Given the description of an element on the screen output the (x, y) to click on. 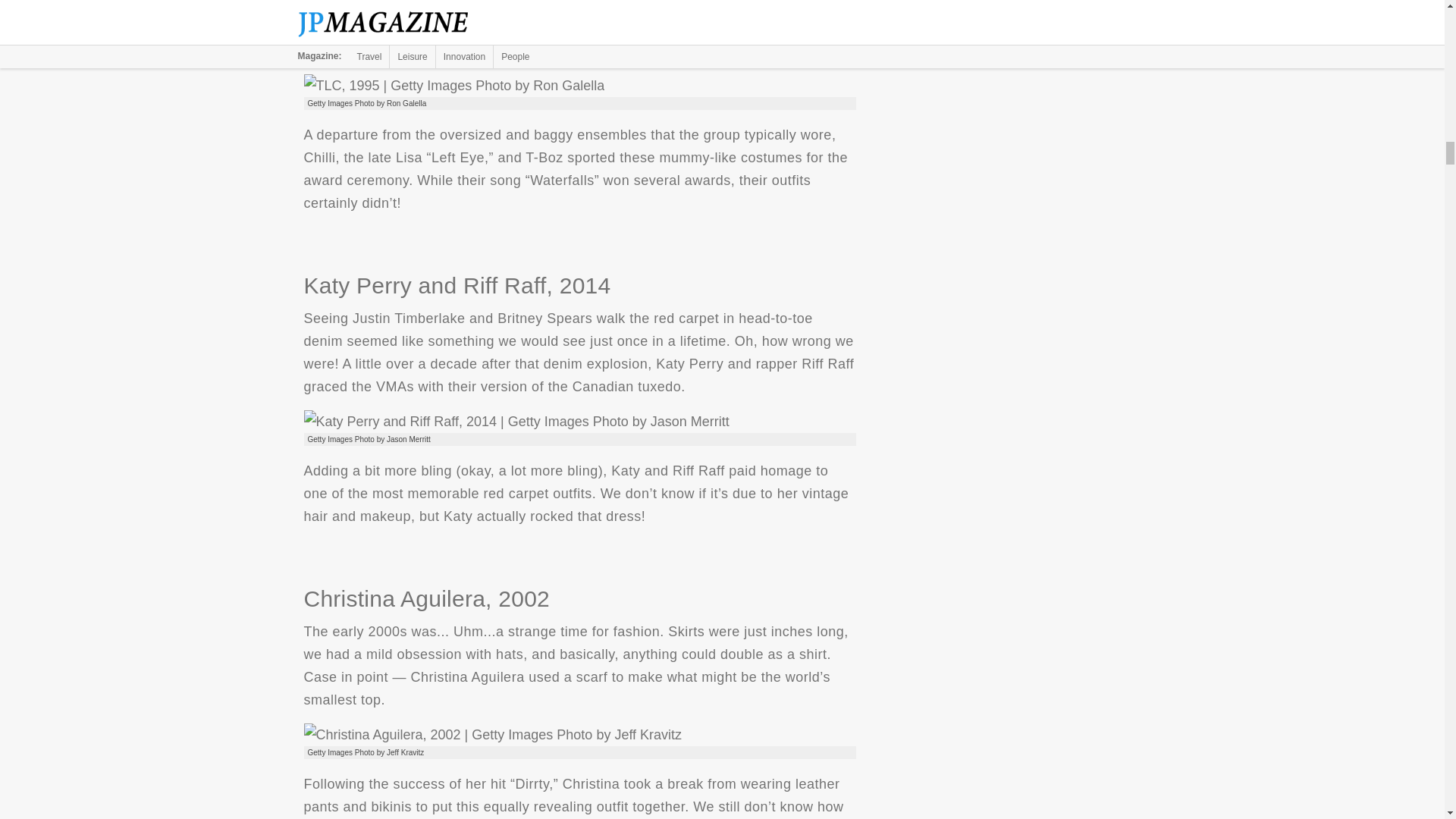
Katy Perry and Riff Raff, 2014 (515, 421)
Christina Aguilera, 2002 (491, 734)
TLC, 1995 (453, 85)
